Given the description of an element on the screen output the (x, y) to click on. 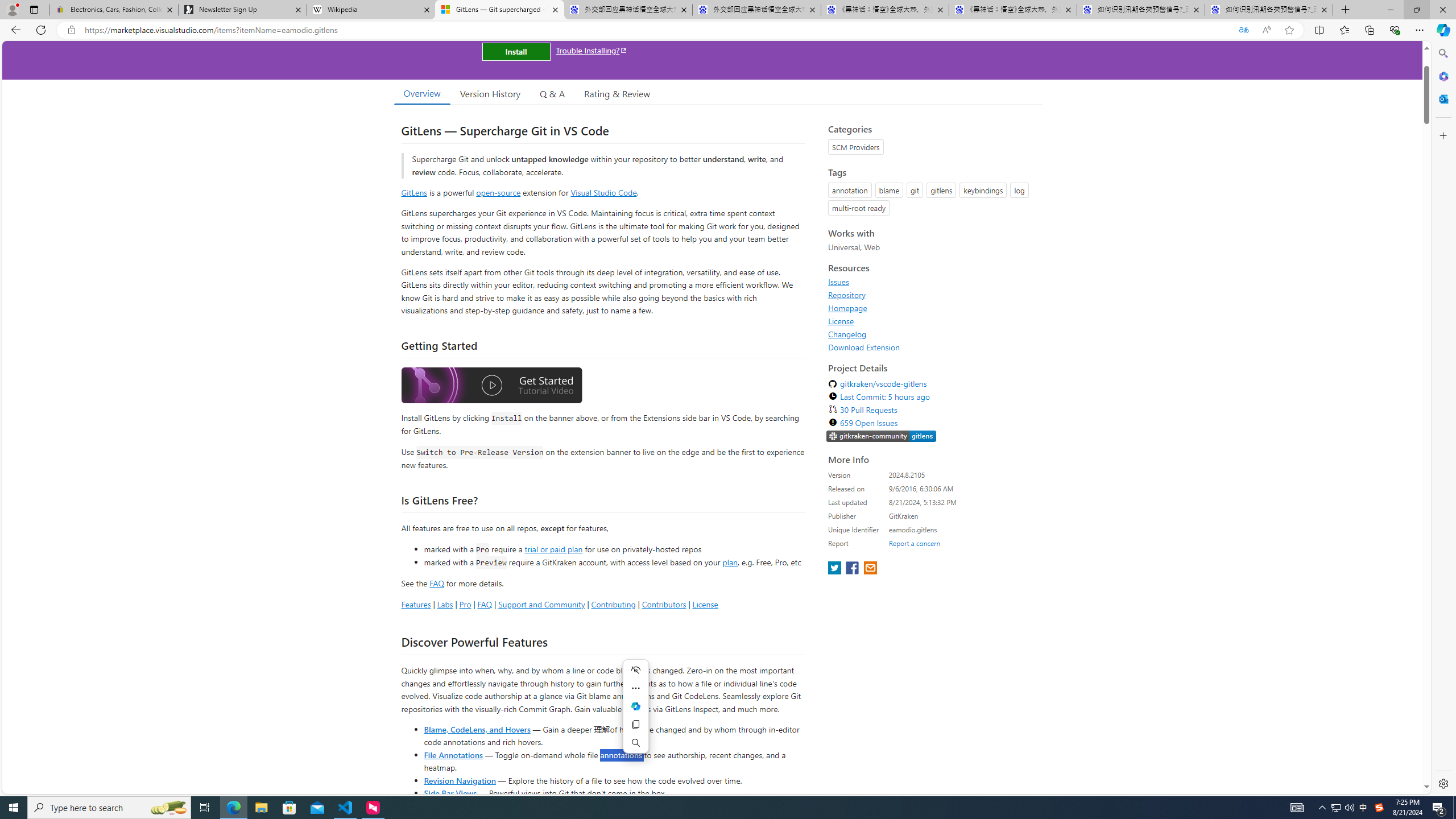
GitLens (414, 192)
Contributors (663, 603)
Hide menu (635, 669)
Visual Studio Code (603, 192)
Download Extension (863, 346)
